Given the description of an element on the screen output the (x, y) to click on. 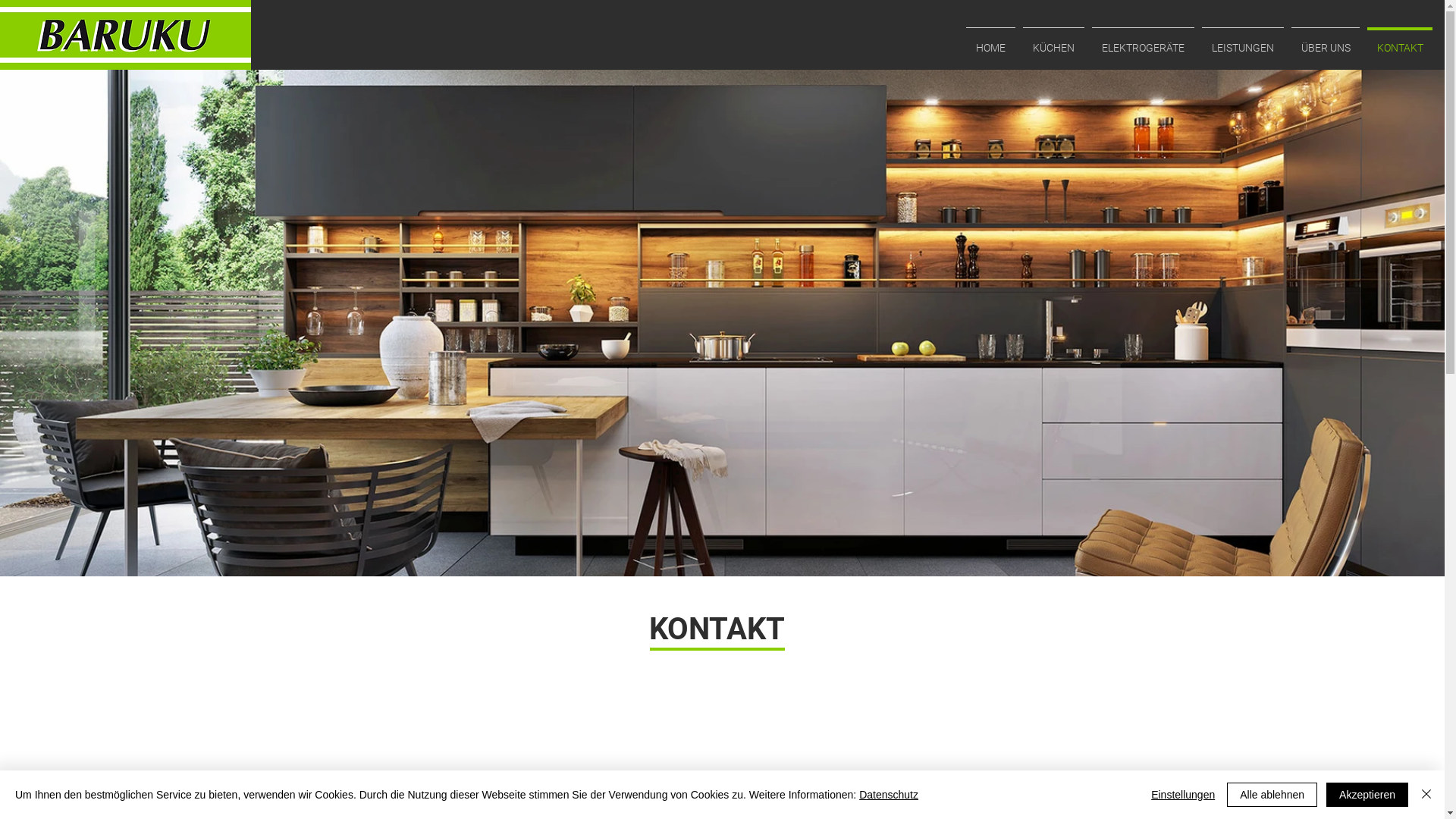
Alle ablehnen Element type: text (1271, 794)
HOME Element type: text (990, 41)
Akzeptieren Element type: text (1367, 794)
Datenschutz Element type: text (888, 794)
KONTAKT Element type: text (1399, 41)
LEISTUNGEN Element type: text (1242, 41)
